Given the description of an element on the screen output the (x, y) to click on. 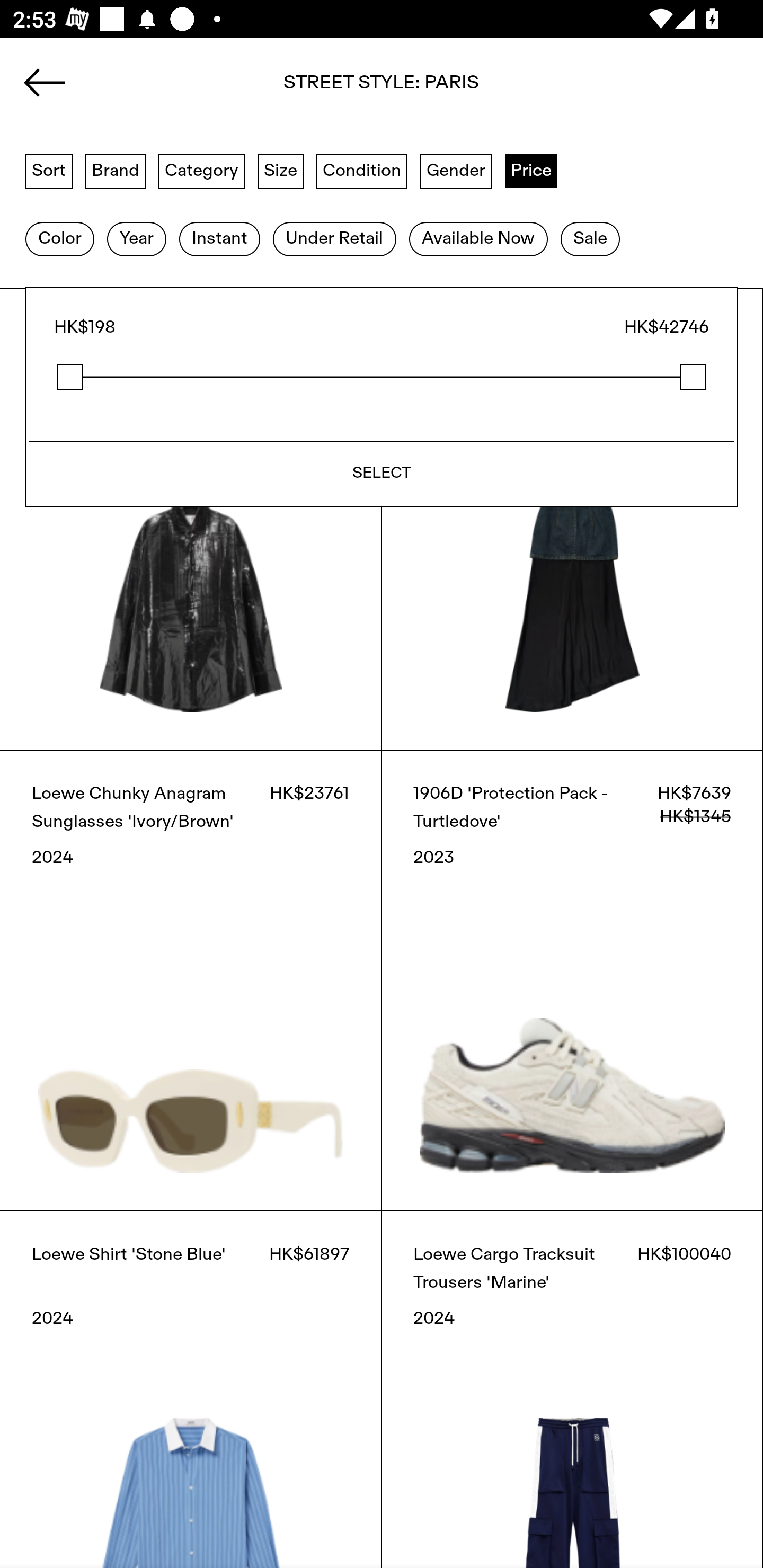
soccer shoes (381, 88)
Sort (48, 170)
Brand (115, 170)
Category (201, 170)
Size (280, 170)
Condition (361, 170)
Gender (455, 170)
Price (530, 170)
Color (59, 239)
Year (136, 239)
Instant (219, 239)
Under Retail (334, 239)
Available Now (477, 239)
Sale (589, 239)
198.0 Range start,198 42746.0 Range end,42746 (381, 376)
SELECT (381, 473)
Loewe Shirt 'Stone Blue' HK$61897 2024 (190, 1389)
